Given the description of an element on the screen output the (x, y) to click on. 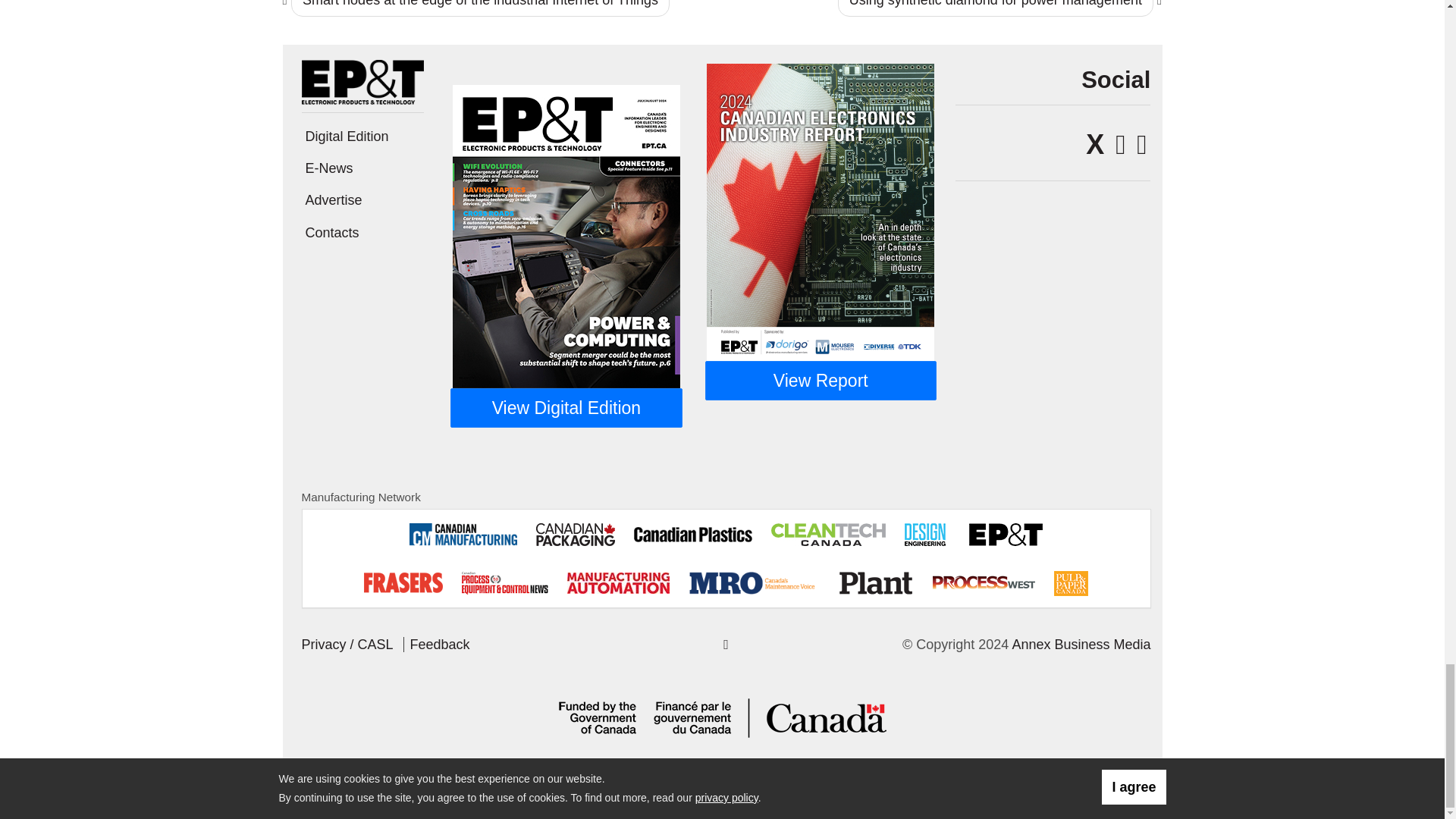
Annex Business Media (1080, 644)
